Given the description of an element on the screen output the (x, y) to click on. 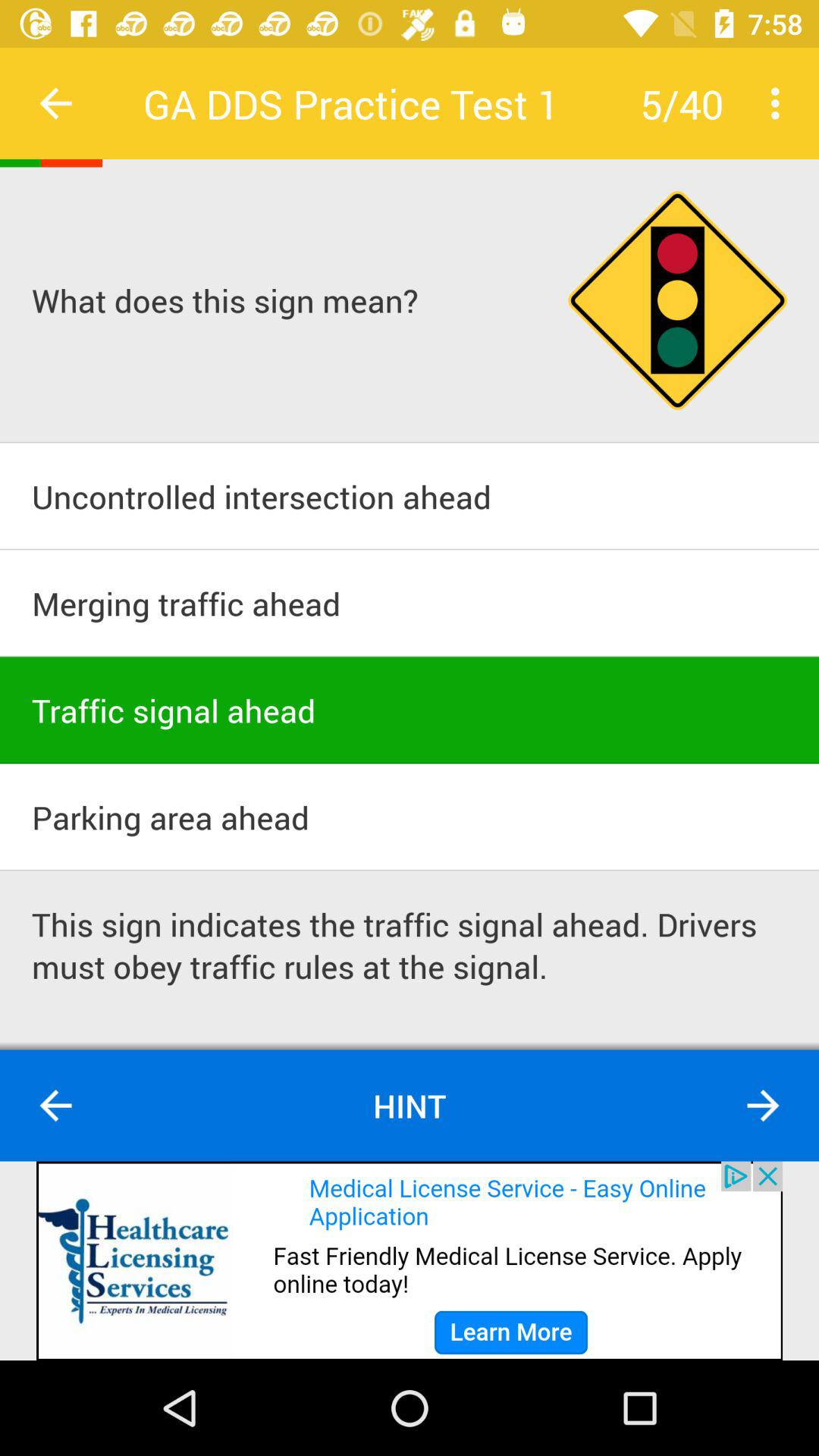
go to next (763, 1105)
